Given the description of an element on the screen output the (x, y) to click on. 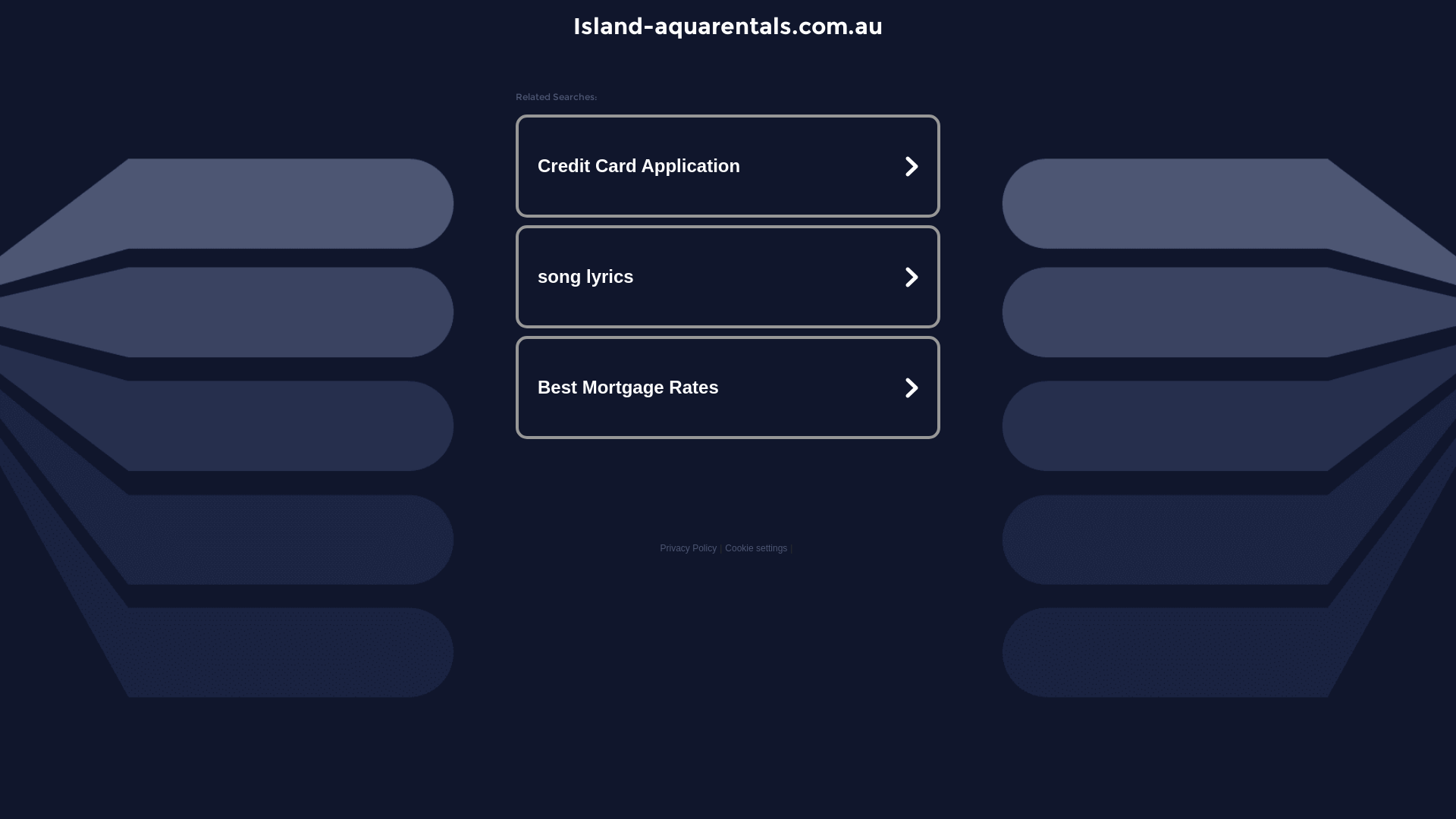
Best Mortgage Rates Element type: text (727, 387)
Cookie settings Element type: text (755, 547)
Credit Card Application Element type: text (727, 165)
Island-aquarentals.com.au Element type: text (727, 26)
Privacy Policy Element type: text (687, 547)
song lyrics Element type: text (727, 276)
